Given the description of an element on the screen output the (x, y) to click on. 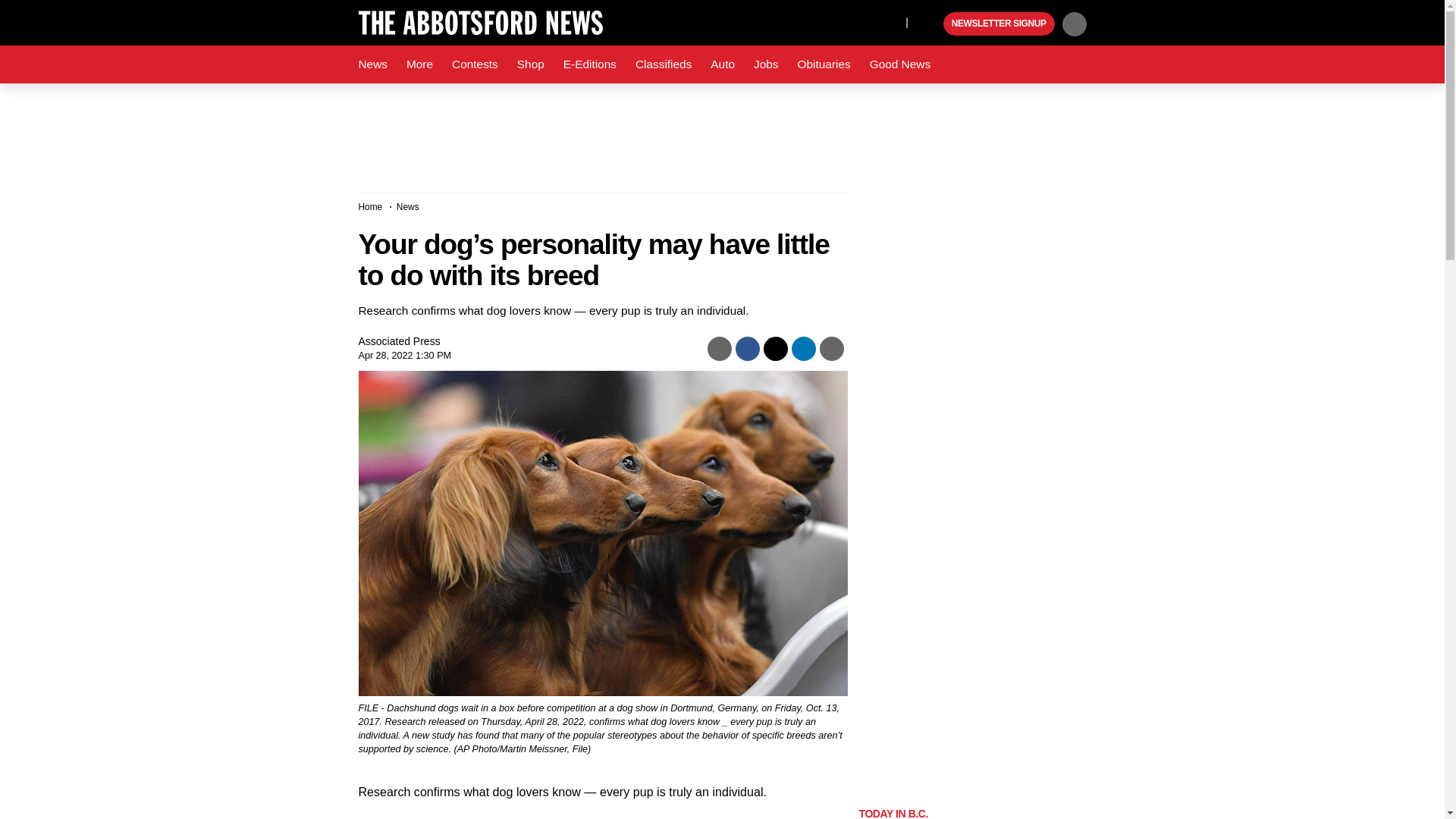
Black Press Media (929, 24)
X (889, 21)
Play (929, 24)
News (372, 64)
NEWSLETTER SIGNUP (998, 24)
